Given the description of an element on the screen output the (x, y) to click on. 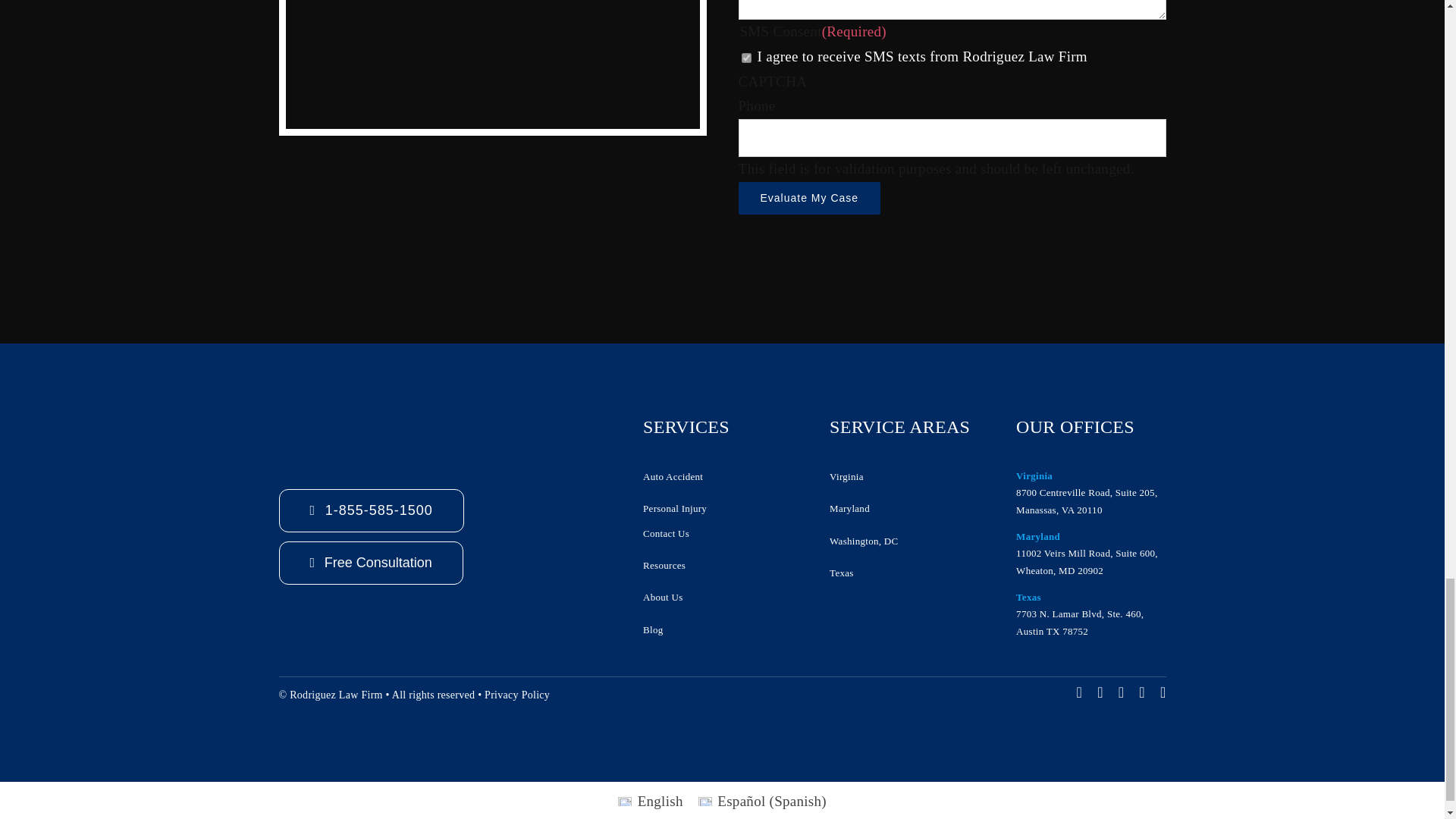
DagoR (491, 64)
1600119065-logo-nav (370, 436)
Evaluate My Case (809, 197)
